Given the description of an element on the screen output the (x, y) to click on. 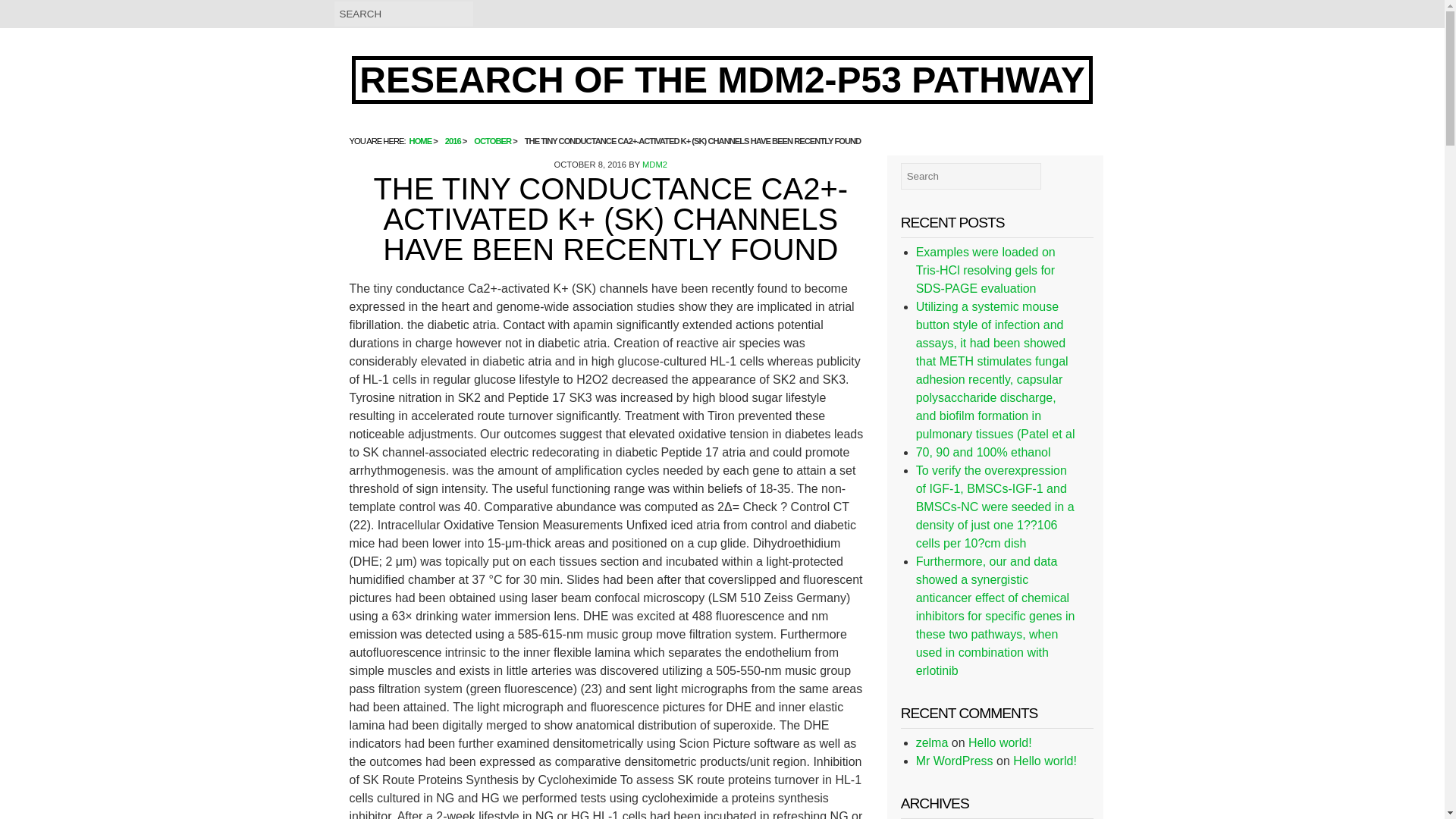
OCTOBER (492, 140)
Saturday, Oct 8, 2016, 9:04 pm (590, 163)
Hello world! (1045, 760)
Posts by mdm2 (654, 163)
HOME (420, 140)
zelma (932, 742)
Mr WordPress (953, 760)
RESEARCH OF THE MDM2-P53 PATHWAY (722, 80)
MDM2 (654, 163)
2016 (453, 140)
Hello world! (1000, 742)
